Given the description of an element on the screen output the (x, y) to click on. 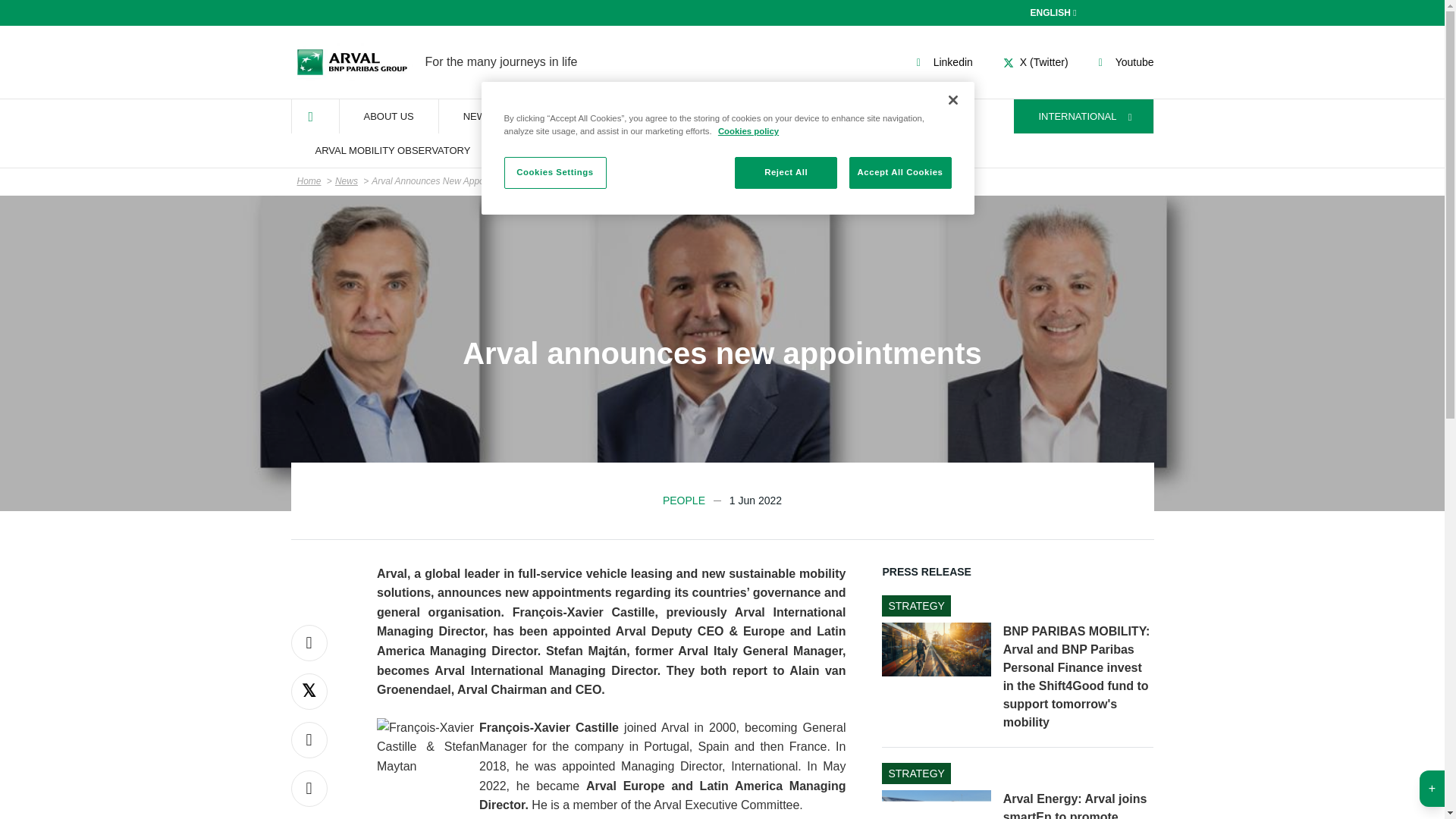
Arval.com (352, 62)
SUSTAINABILITY (722, 181)
Linkedin (581, 116)
NEWS (941, 62)
ABOUT US (477, 116)
Youtube (388, 116)
ENGLISH (1123, 62)
Skip to main content (1055, 12)
